Given the description of an element on the screen output the (x, y) to click on. 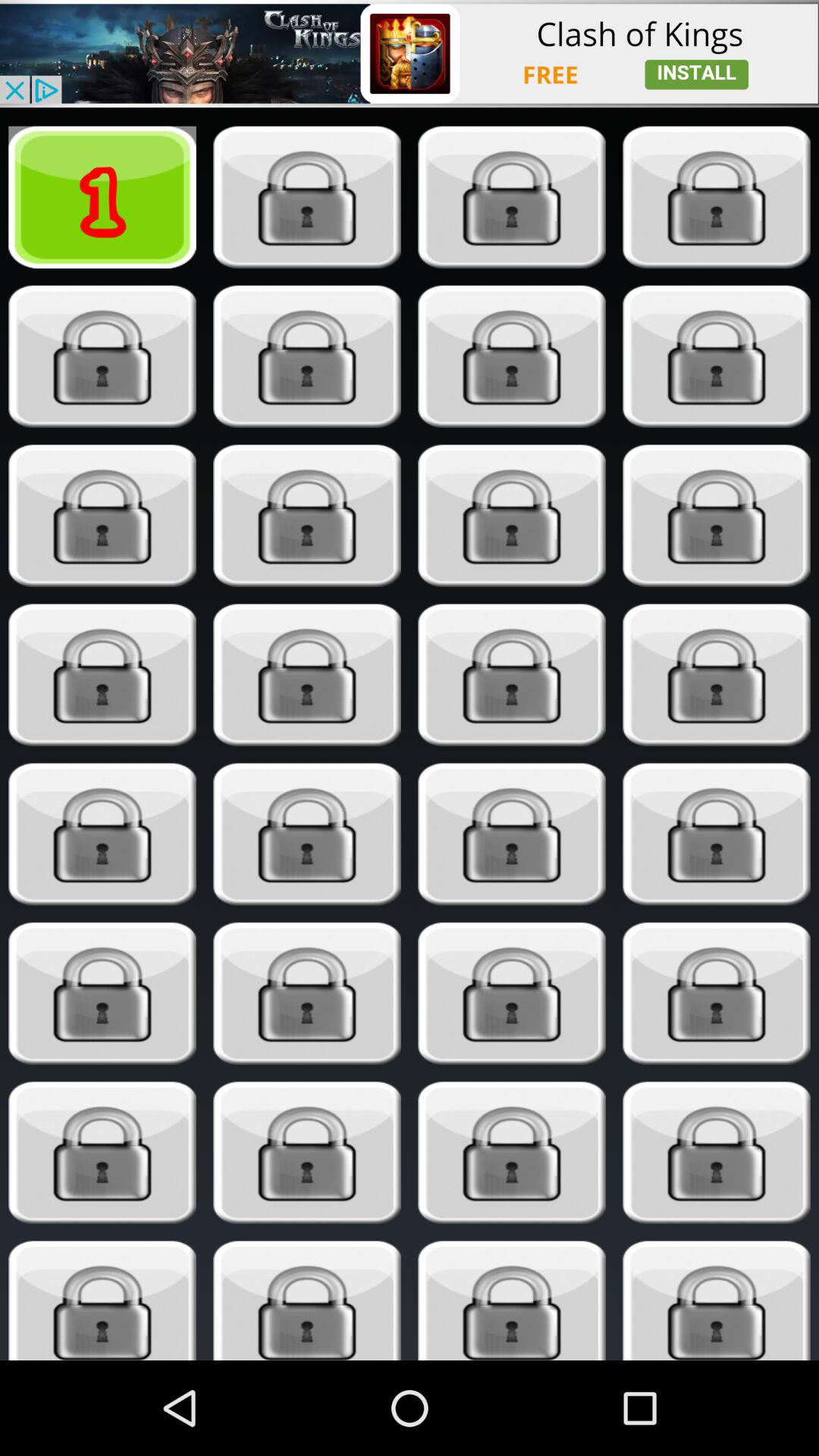
lock (716, 993)
